Given the description of an element on the screen output the (x, y) to click on. 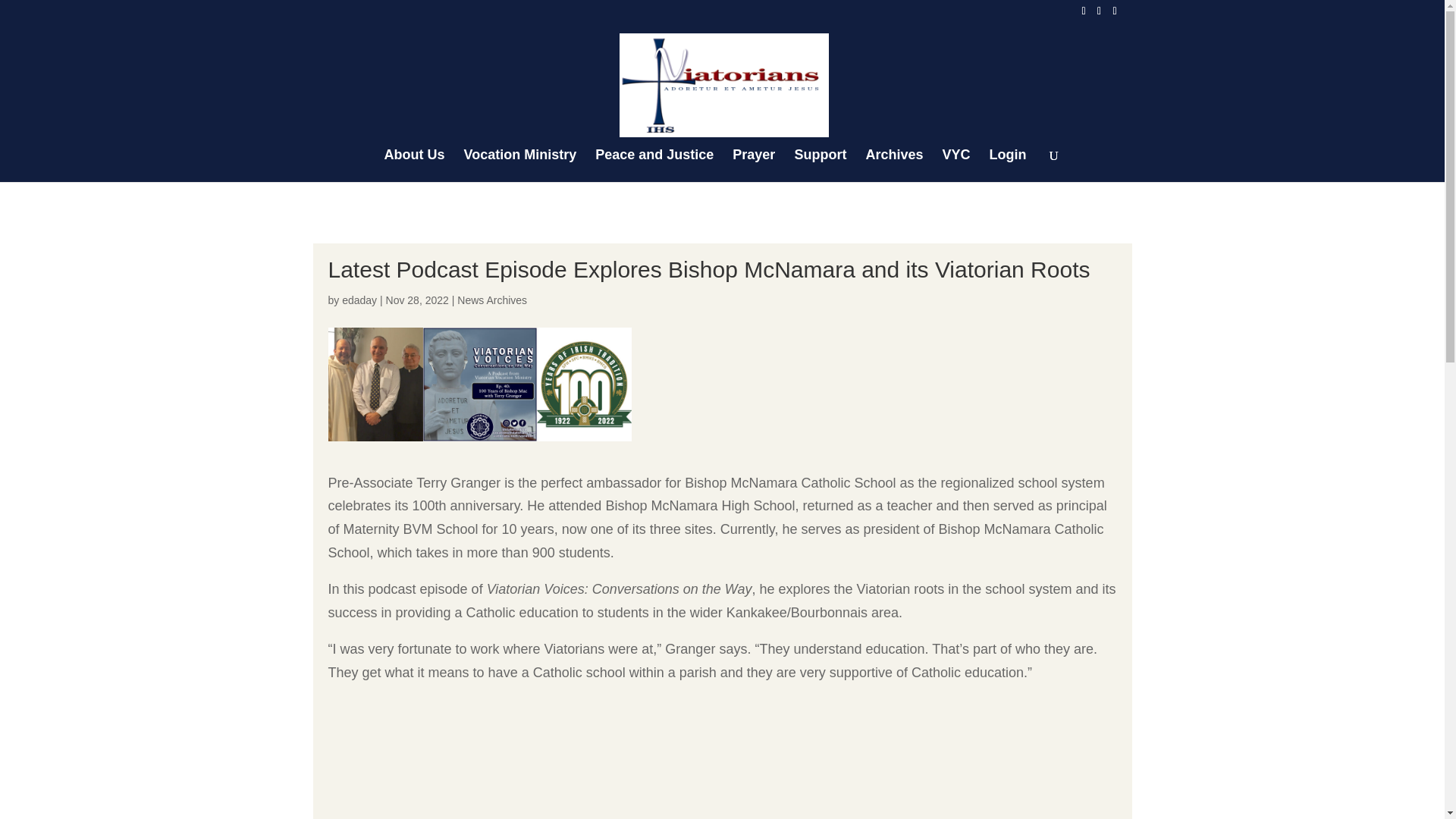
Posts by edaday (359, 300)
Vocation Ministry (528, 164)
Peace and Justice (662, 164)
Support (827, 164)
About Us (422, 164)
Prayer (761, 164)
